Given the description of an element on the screen output the (x, y) to click on. 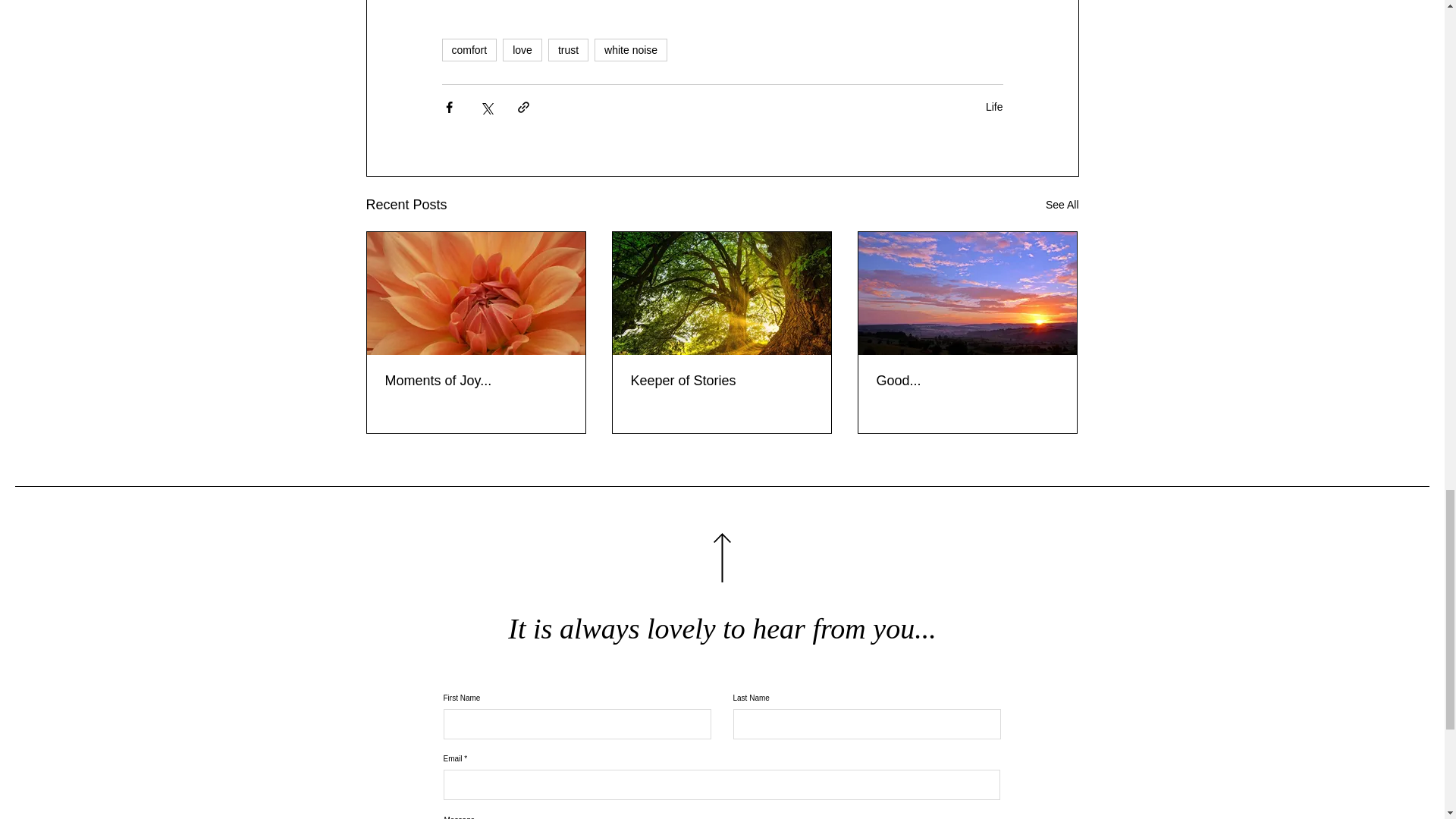
See All (1061, 205)
Good... (967, 381)
Moments of Joy... (476, 381)
Keeper of Stories (721, 381)
love (521, 49)
comfort (468, 49)
white noise (630, 49)
trust (568, 49)
Life (994, 106)
